Given the description of an element on the screen output the (x, y) to click on. 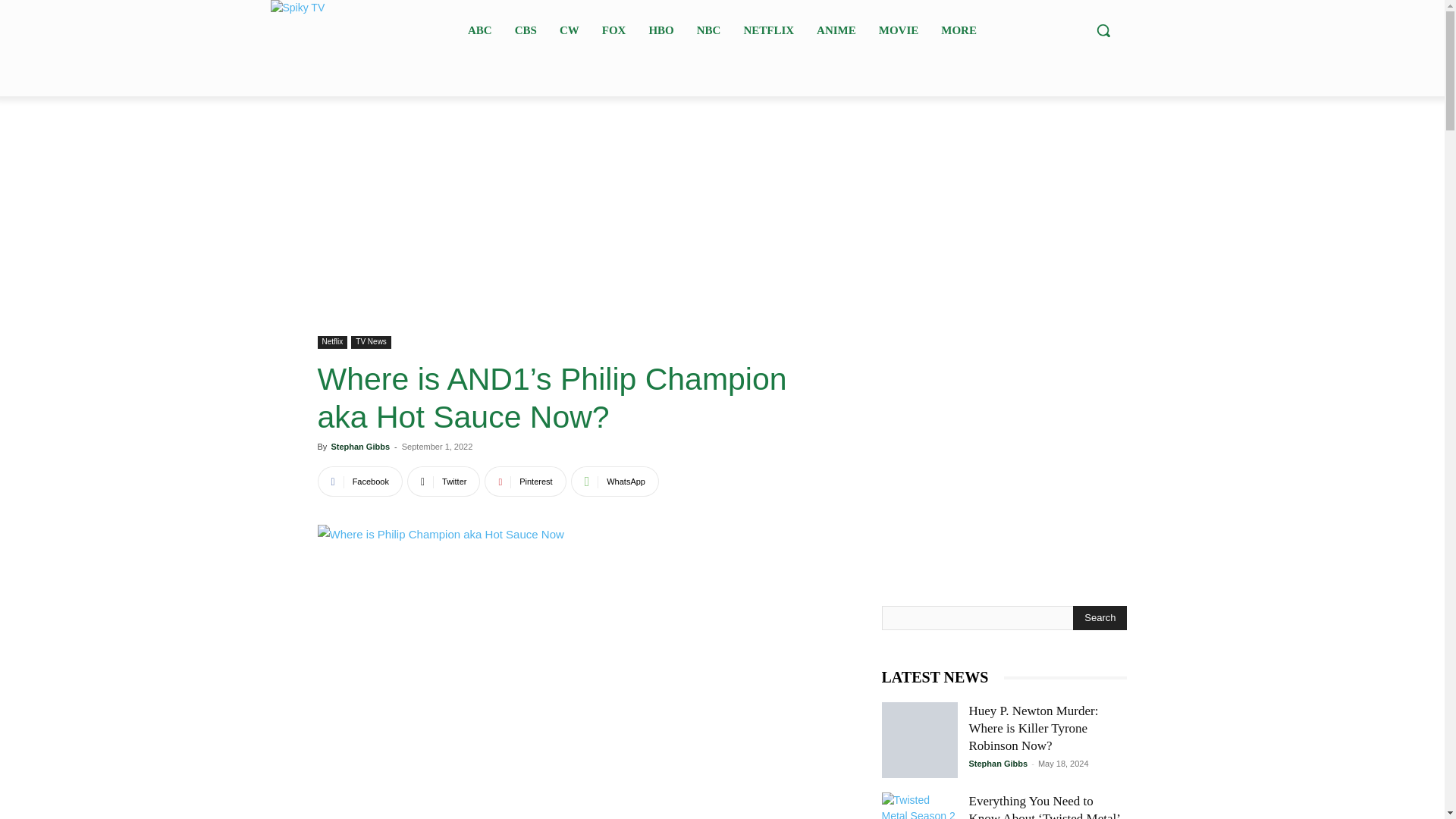
NBC (708, 29)
FOX (613, 29)
ABC (479, 29)
Search (1099, 617)
ANIME (836, 29)
NETFLIX (768, 29)
CBS (525, 29)
MORE (958, 29)
WhatsApp (614, 481)
